Given the description of an element on the screen output the (x, y) to click on. 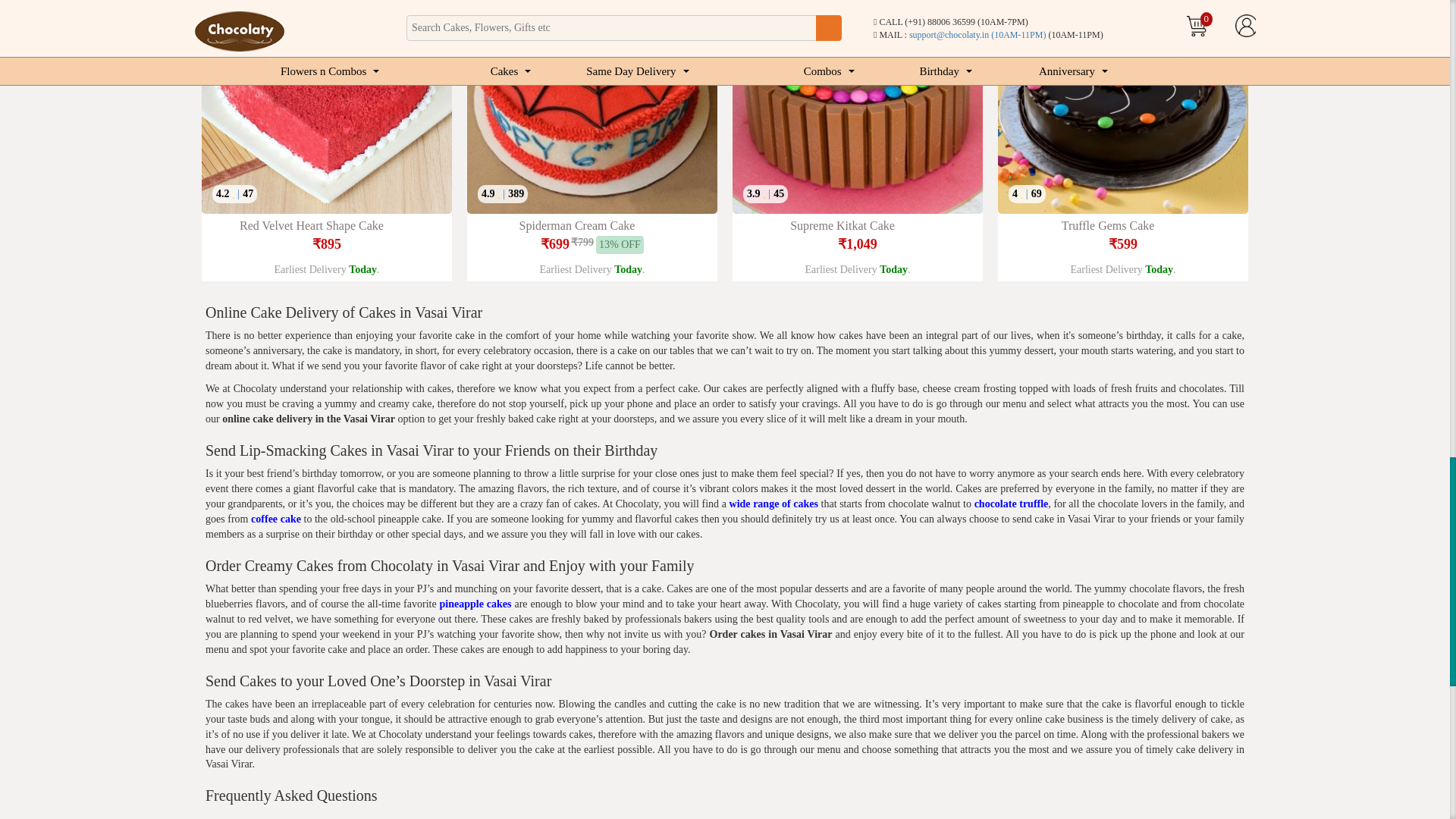
Red Velvet Heart Shape Cake (326, 106)
